Given the description of an element on the screen output the (x, y) to click on. 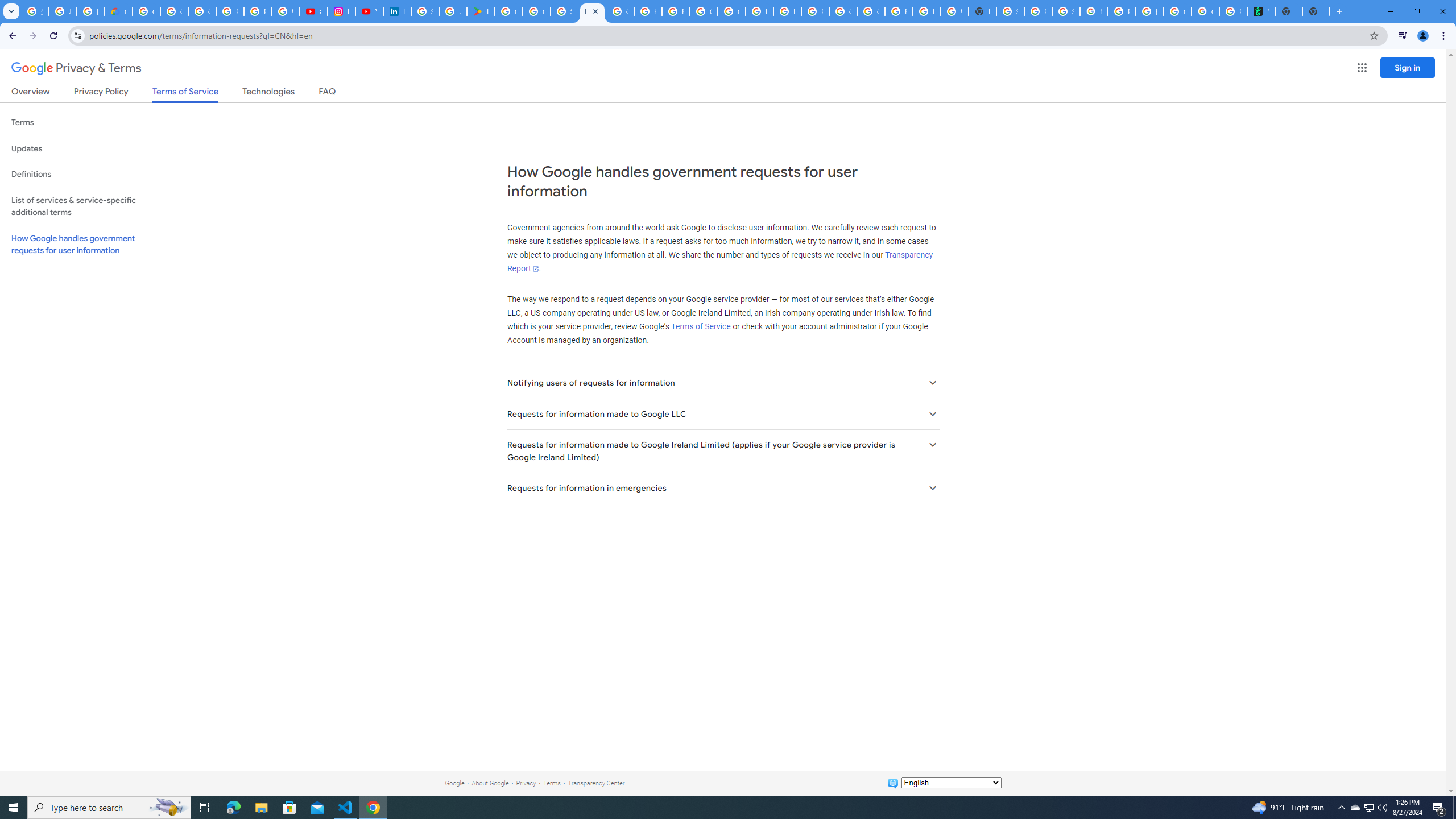
Privacy Help Center - Policies Help (257, 11)
#nbabasketballhighlights - YouTube (313, 11)
How do I create a new Google Account? - Google Account Help (647, 11)
Transparency Report (719, 262)
Google Workspace - Specific Terms (536, 11)
